Given the description of an element on the screen output the (x, y) to click on. 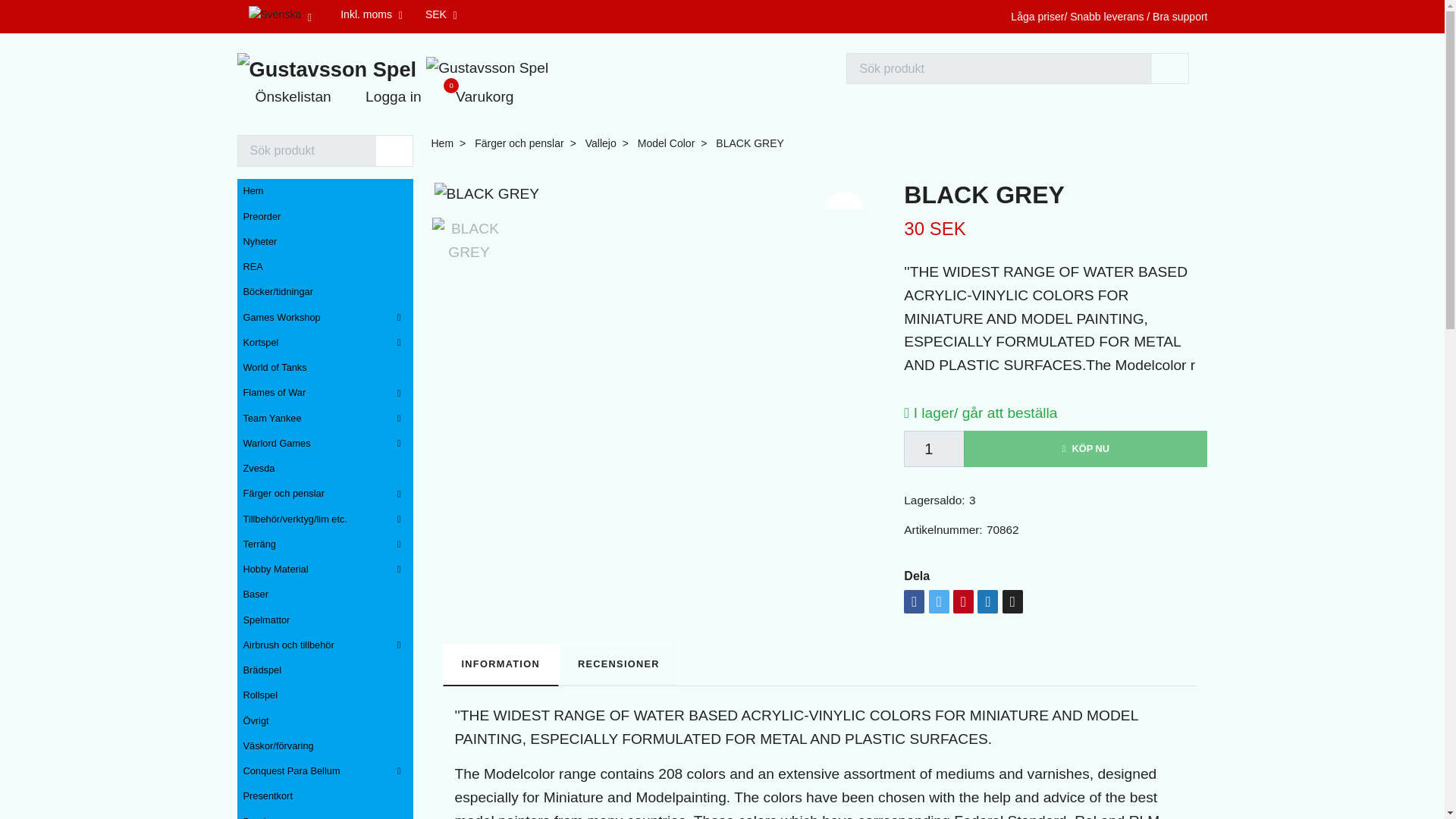
1 (933, 448)
Logga in (384, 96)
Inkl. moms (475, 96)
SEK (371, 14)
Gustavsson Spel (441, 14)
